Given the description of an element on the screen output the (x, y) to click on. 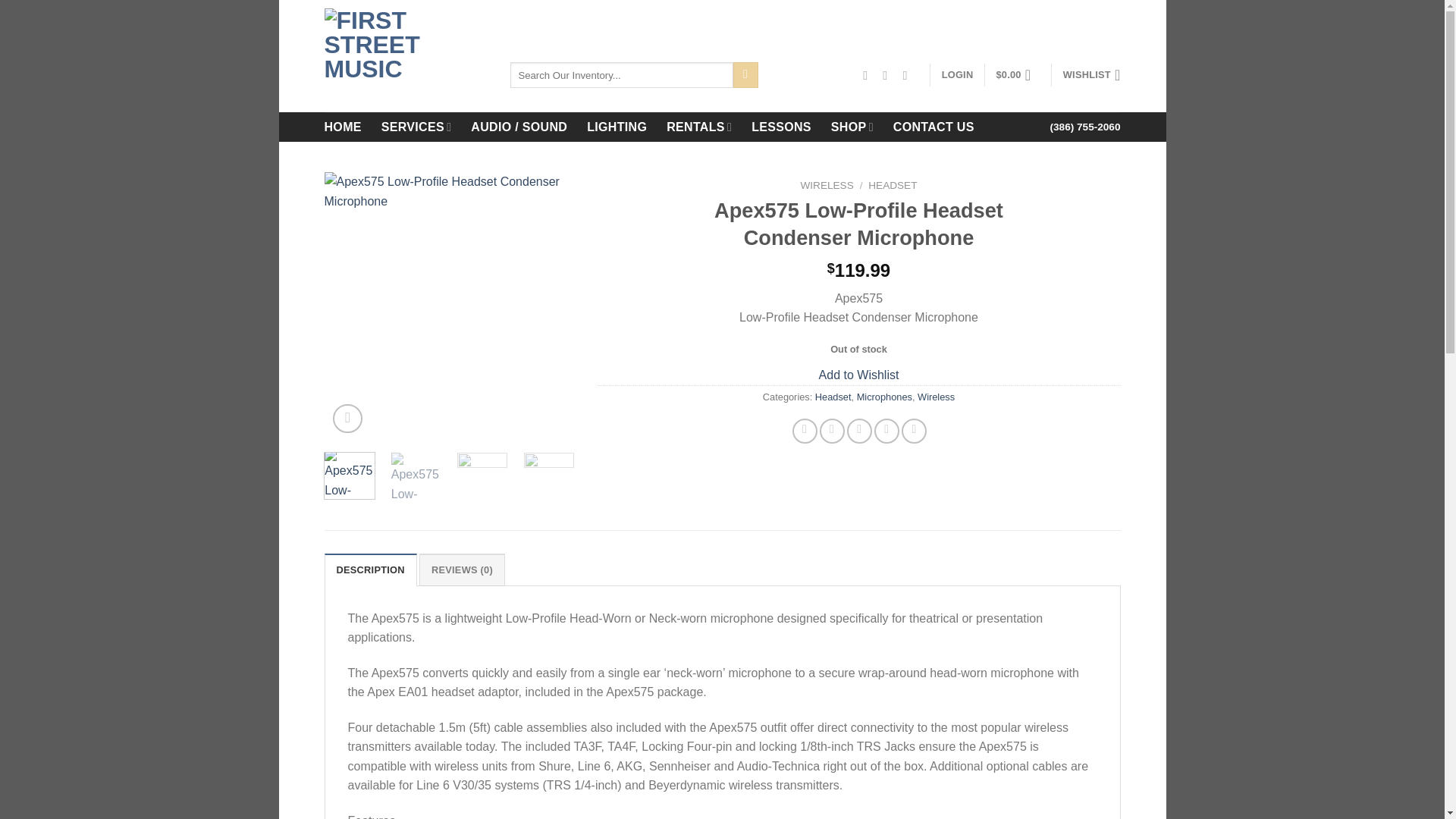
Share on Facebook (804, 430)
Search (745, 74)
Zoom (347, 419)
RENTALS (699, 126)
HOME (342, 126)
SHOP (852, 126)
First Street Music - Full Service Music Store (405, 56)
LESSONS (780, 126)
LIGHTING (616, 126)
SERVICES (416, 126)
